Given the description of an element on the screen output the (x, y) to click on. 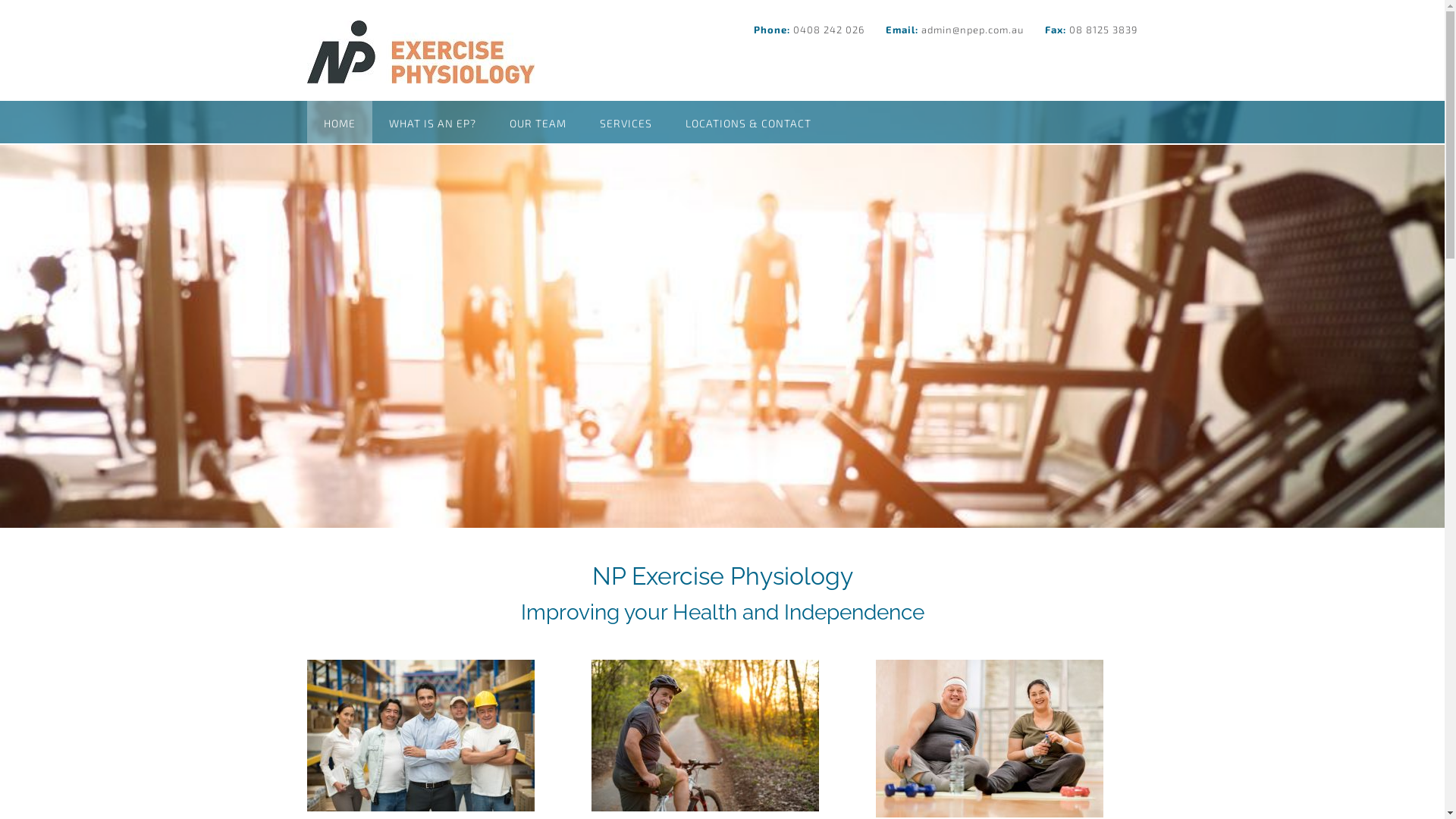
HOME Element type: text (338, 121)
OUR TEAM Element type: text (537, 121)
SERVICES Element type: text (625, 121)
LOCATIONS & CONTACT Element type: text (748, 121)
WHAT IS AN EP? Element type: text (431, 121)
